Given the description of an element on the screen output the (x, y) to click on. 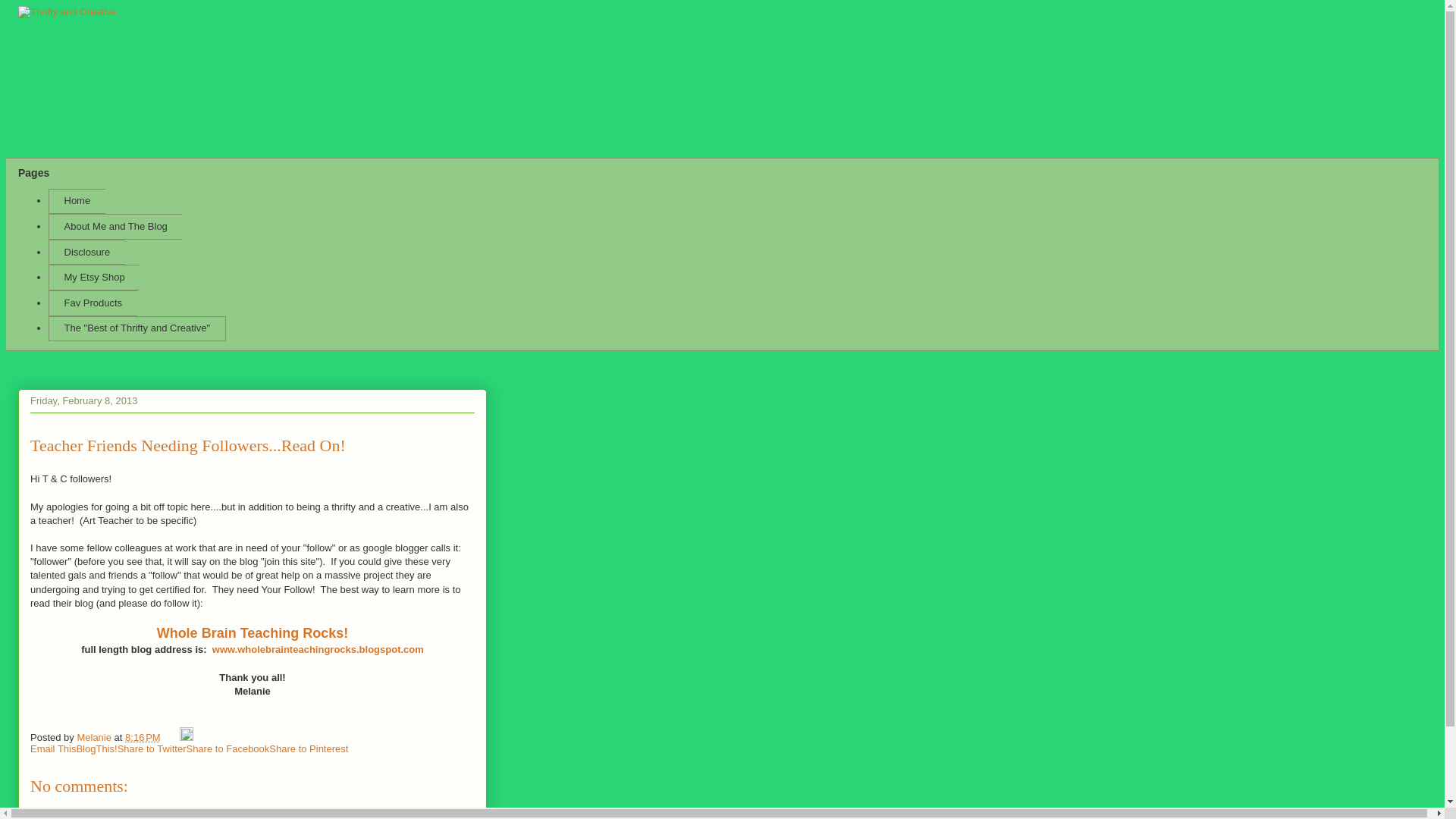
Share to Facebook (227, 748)
Home (76, 201)
Email This (52, 748)
permanent link (142, 737)
www.wholebrainteachingrocks.blogspot.com (317, 649)
Email This (52, 748)
Post a Comment (66, 818)
Email Post (171, 737)
Edit Post (186, 737)
About Me and The Blog (115, 226)
My Etsy Shop (93, 277)
Fav Products (92, 303)
Disclosure (86, 252)
Share to Twitter (151, 748)
Share to Pinterest (308, 748)
